Given the description of an element on the screen output the (x, y) to click on. 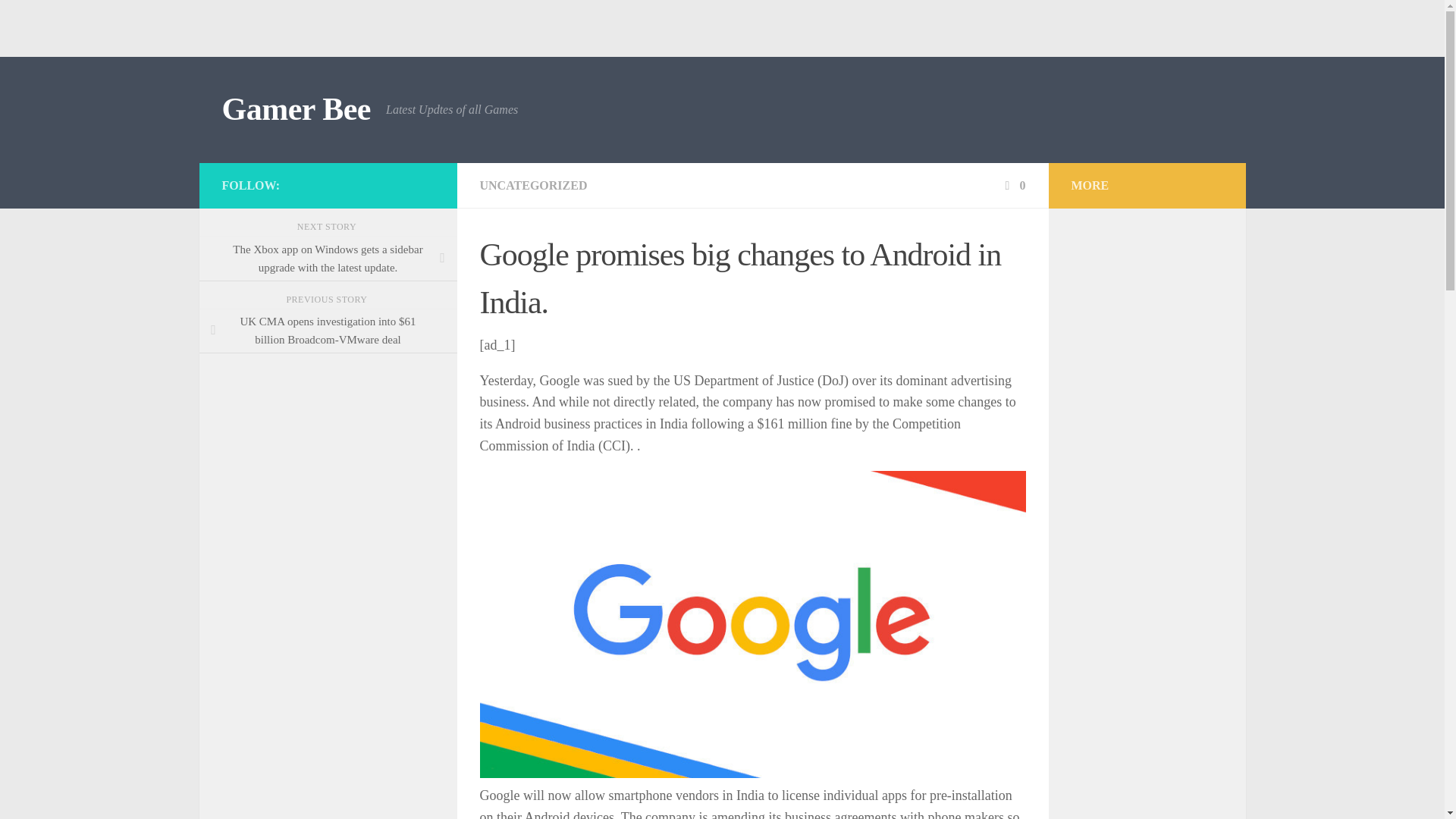
Gamer Bee (295, 109)
UNCATEGORIZED (532, 185)
0 (1013, 185)
Skip to content (59, 20)
